Given the description of an element on the screen output the (x, y) to click on. 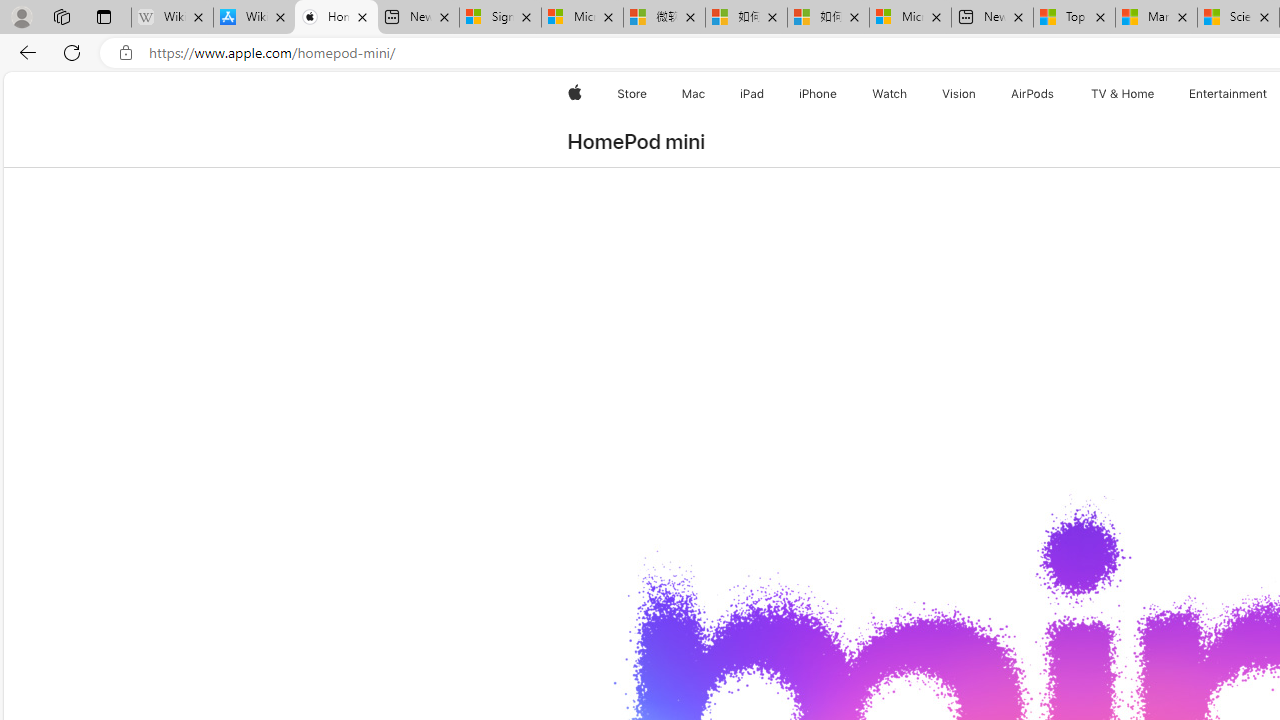
Vision (959, 93)
Vision (959, 93)
